Given the description of an element on the screen output the (x, y) to click on. 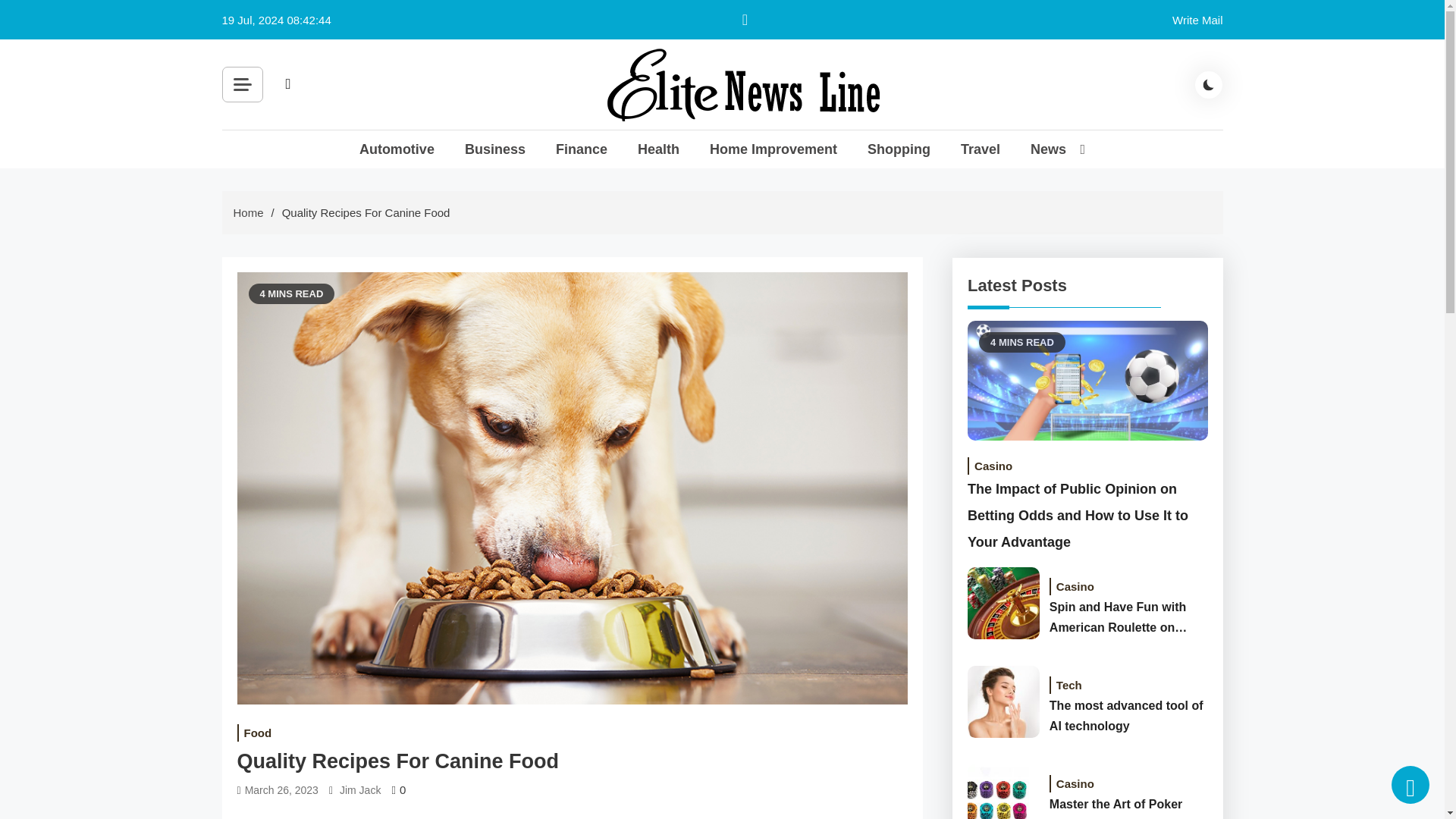
Jim Jack (359, 790)
Shopping (898, 149)
Elite News Line (705, 142)
Travel (980, 149)
Home (247, 212)
March 26, 2023 (281, 790)
Health (658, 149)
Food (256, 732)
site mode button (1209, 84)
Business (494, 149)
Finance (581, 149)
Home Improvement (773, 149)
Automotive (396, 149)
Search (458, 118)
Write Mail (1197, 19)
